Given the description of an element on the screen output the (x, y) to click on. 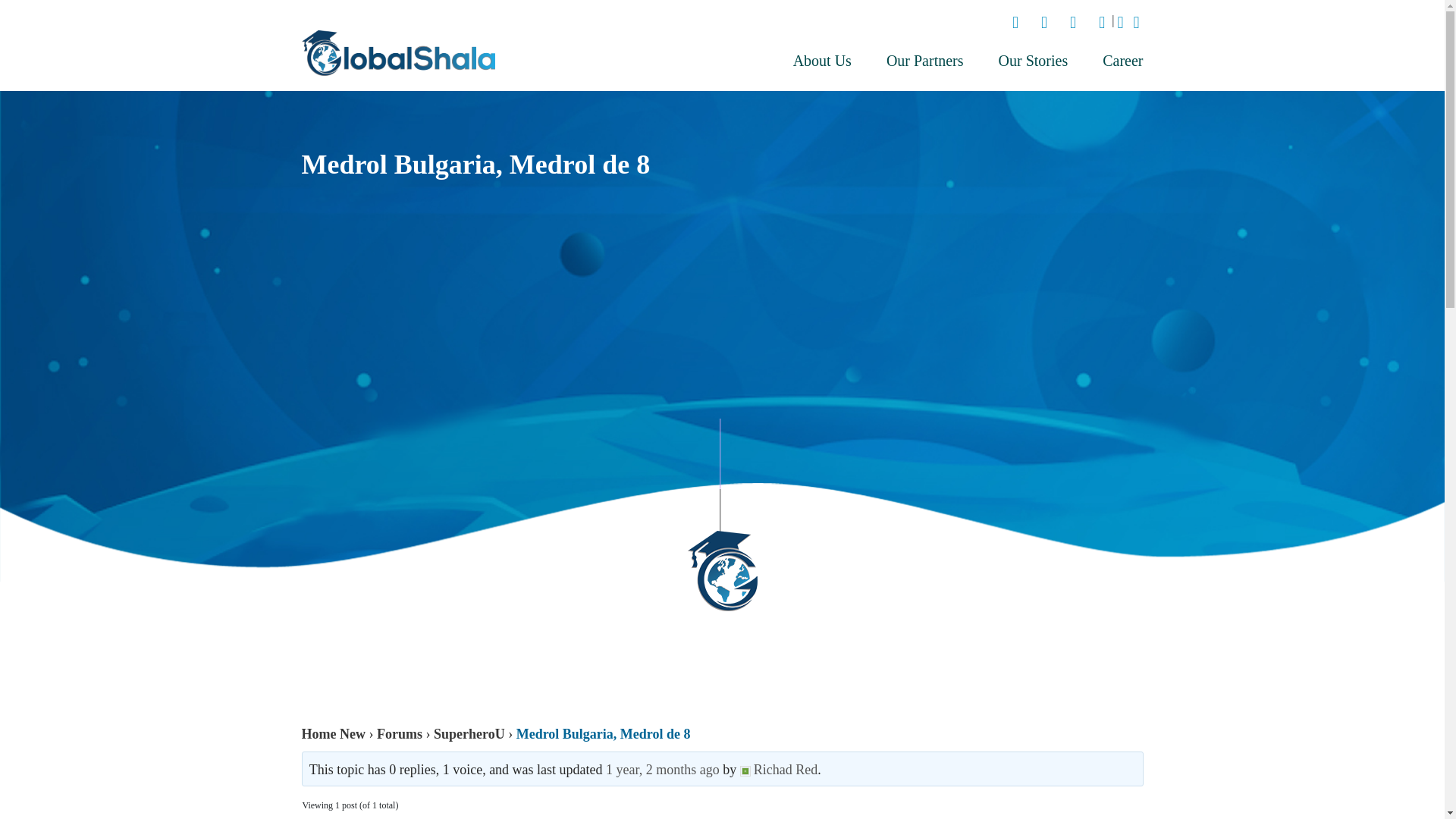
Richad Red (777, 769)
View Richad Red's profile (777, 769)
Medrol Bulgaria, Medrol de 8 (662, 769)
Our Partners (925, 60)
Our Stories (1033, 60)
Forums (399, 734)
About Us (822, 60)
Home New (333, 734)
1 year, 2 months ago (662, 769)
Career (1113, 60)
SuperheroU (469, 734)
